Given the description of an element on the screen output the (x, y) to click on. 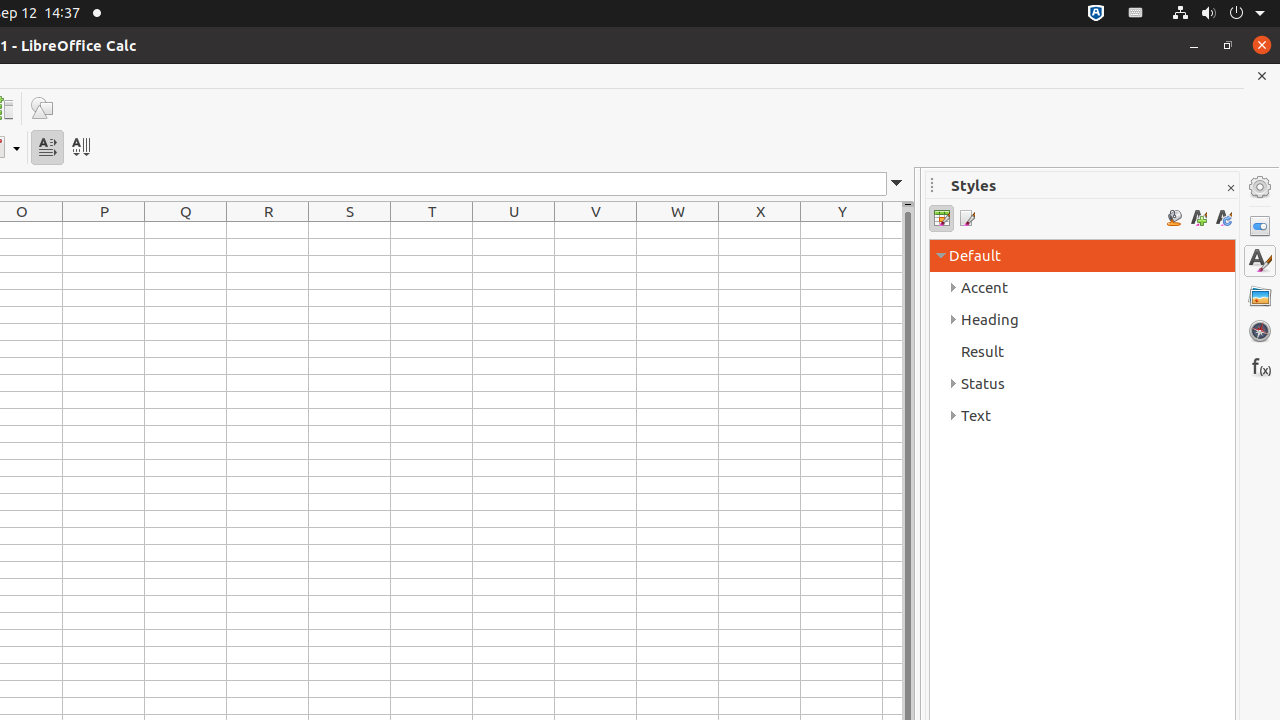
Cell Styles Element type: push-button (941, 218)
T1 Element type: table-cell (432, 230)
Functions Element type: radio-button (1260, 366)
Gallery Element type: radio-button (1260, 296)
Fill Format Mode Element type: push-button (1173, 218)
